Given the description of an element on the screen output the (x, y) to click on. 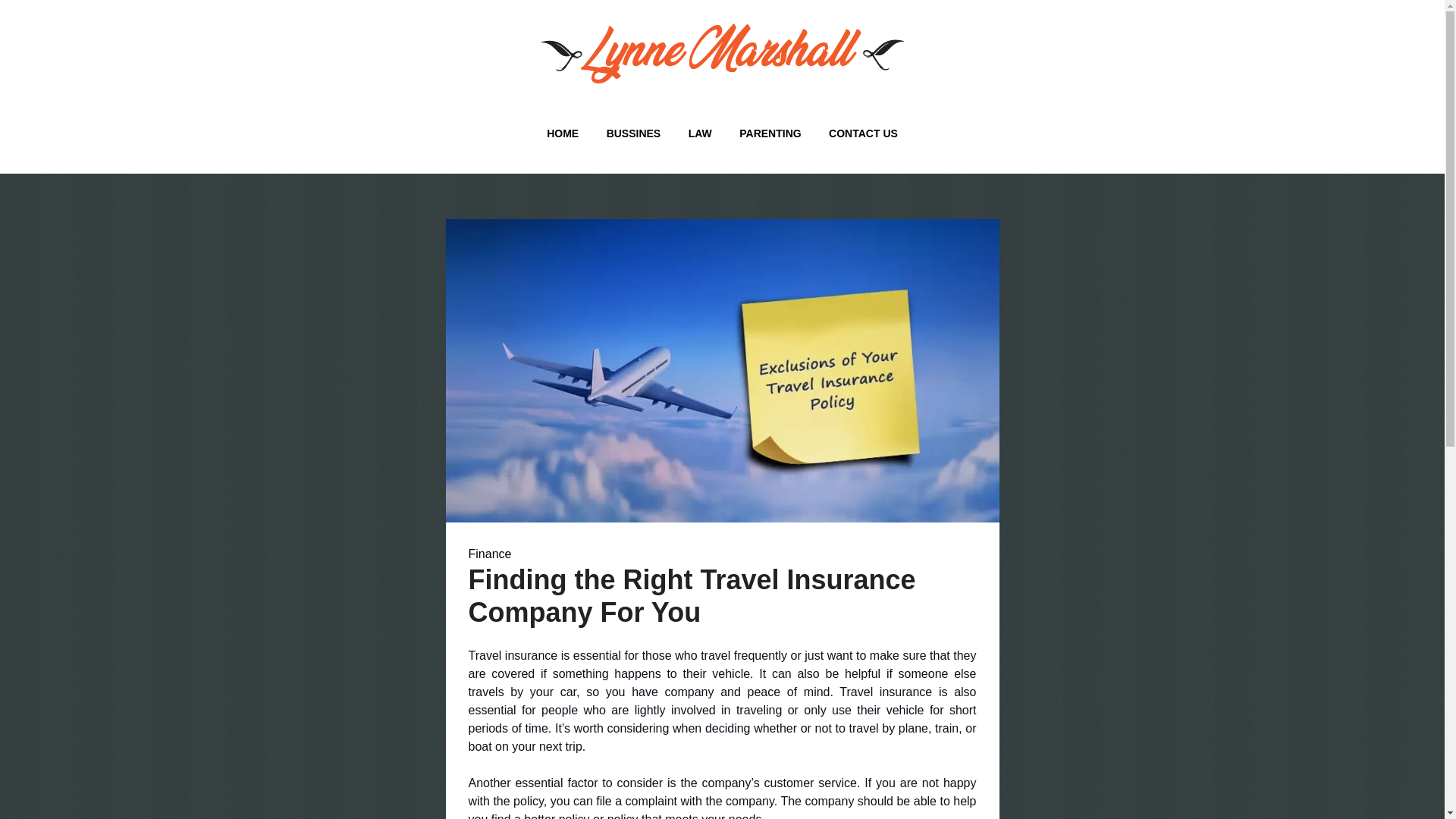
LAW (700, 133)
HOME (562, 133)
Lynne Marshall (400, 110)
BUSSINES (633, 133)
PARENTING (769, 133)
CONTACT US (863, 133)
Finance (490, 553)
